Given the description of an element on the screen output the (x, y) to click on. 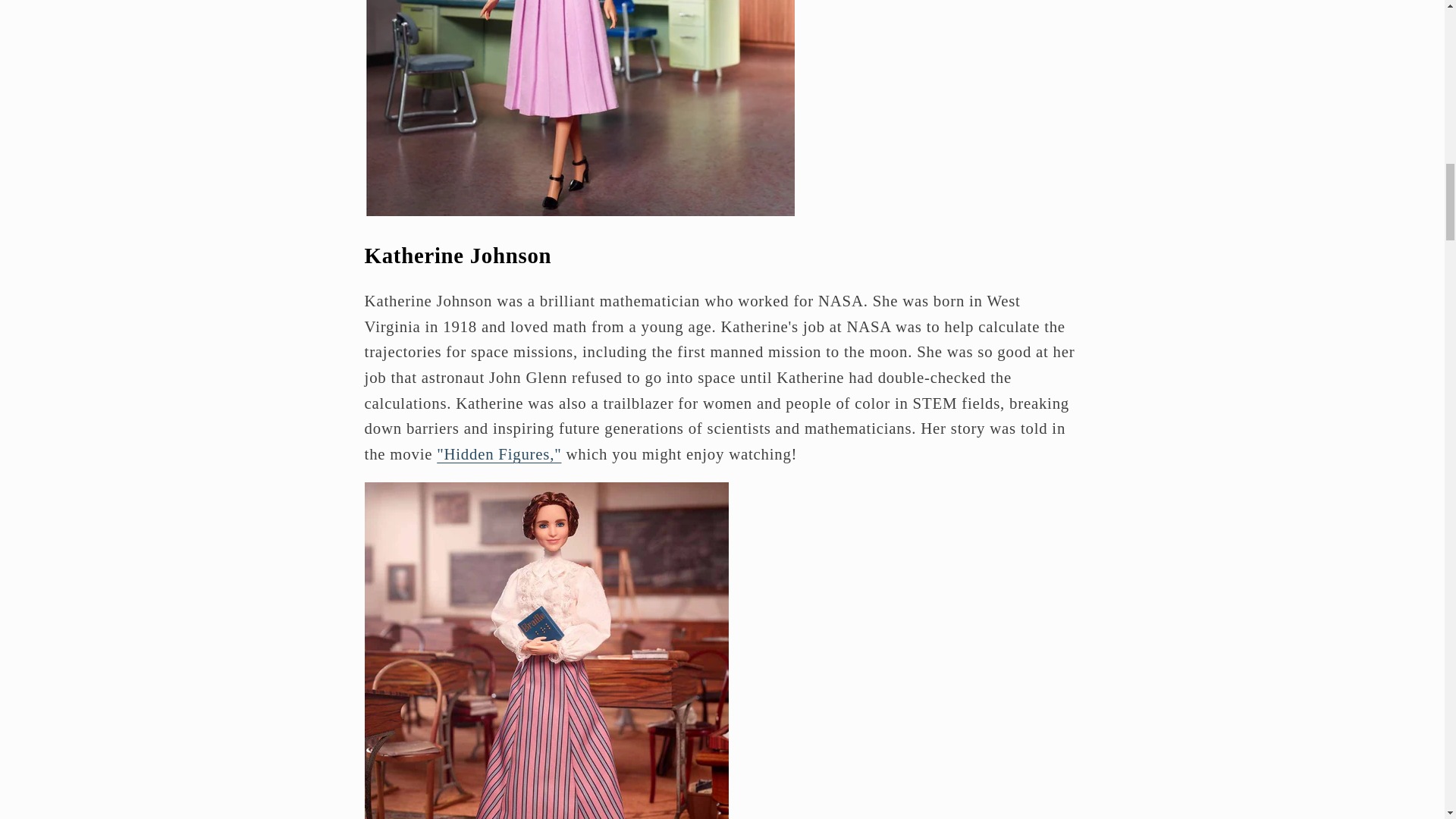
"Hidden Figures," (498, 453)
